Given the description of an element on the screen output the (x, y) to click on. 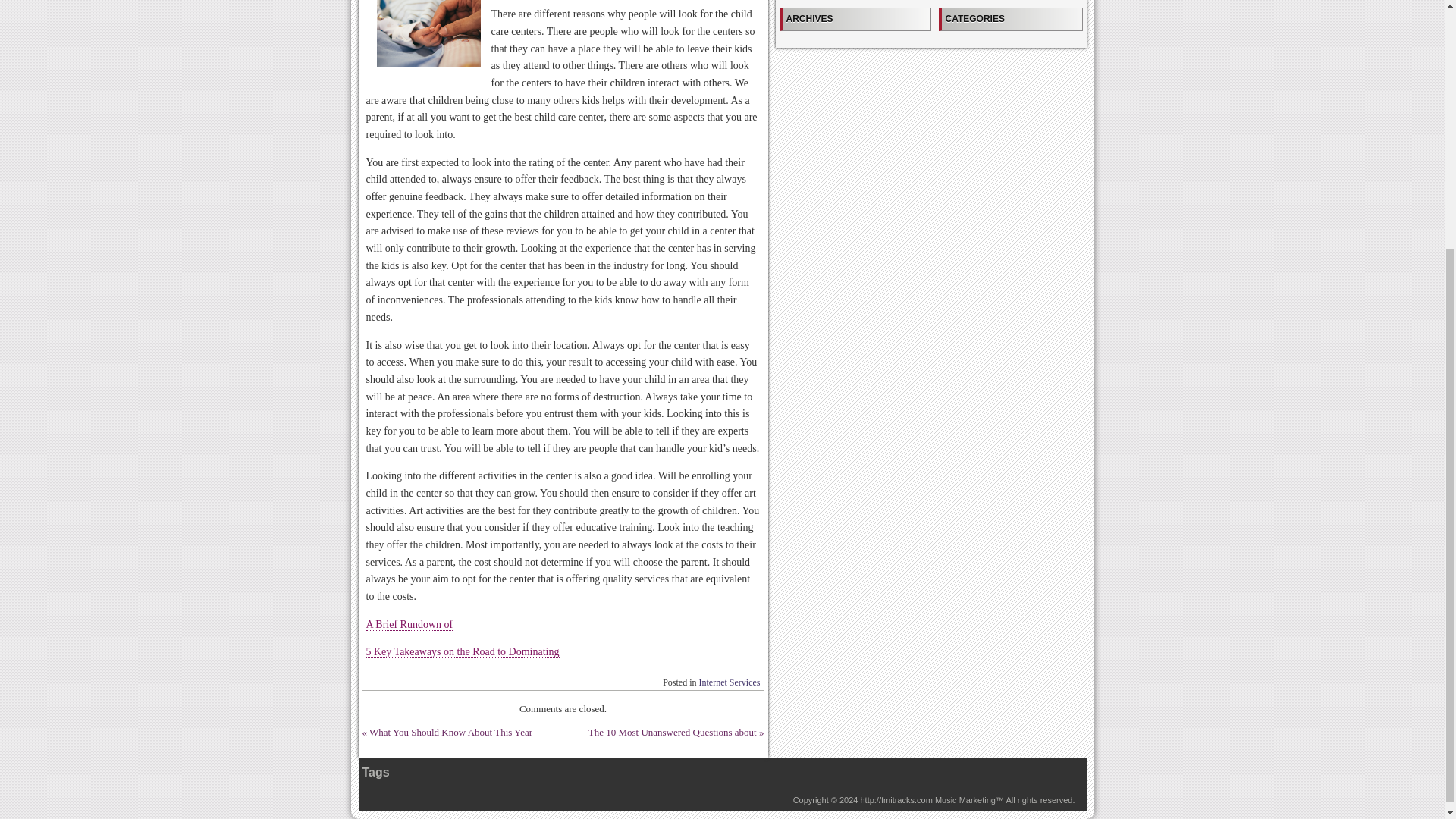
What You Should Know About This Year (450, 731)
Music Marketing (964, 799)
The 10 Most Unanswered Questions about (672, 731)
A Brief Rundown of (408, 624)
Internet Services (729, 682)
5 Key Takeaways on the Road to Dominating (462, 652)
